Given the description of an element on the screen output the (x, y) to click on. 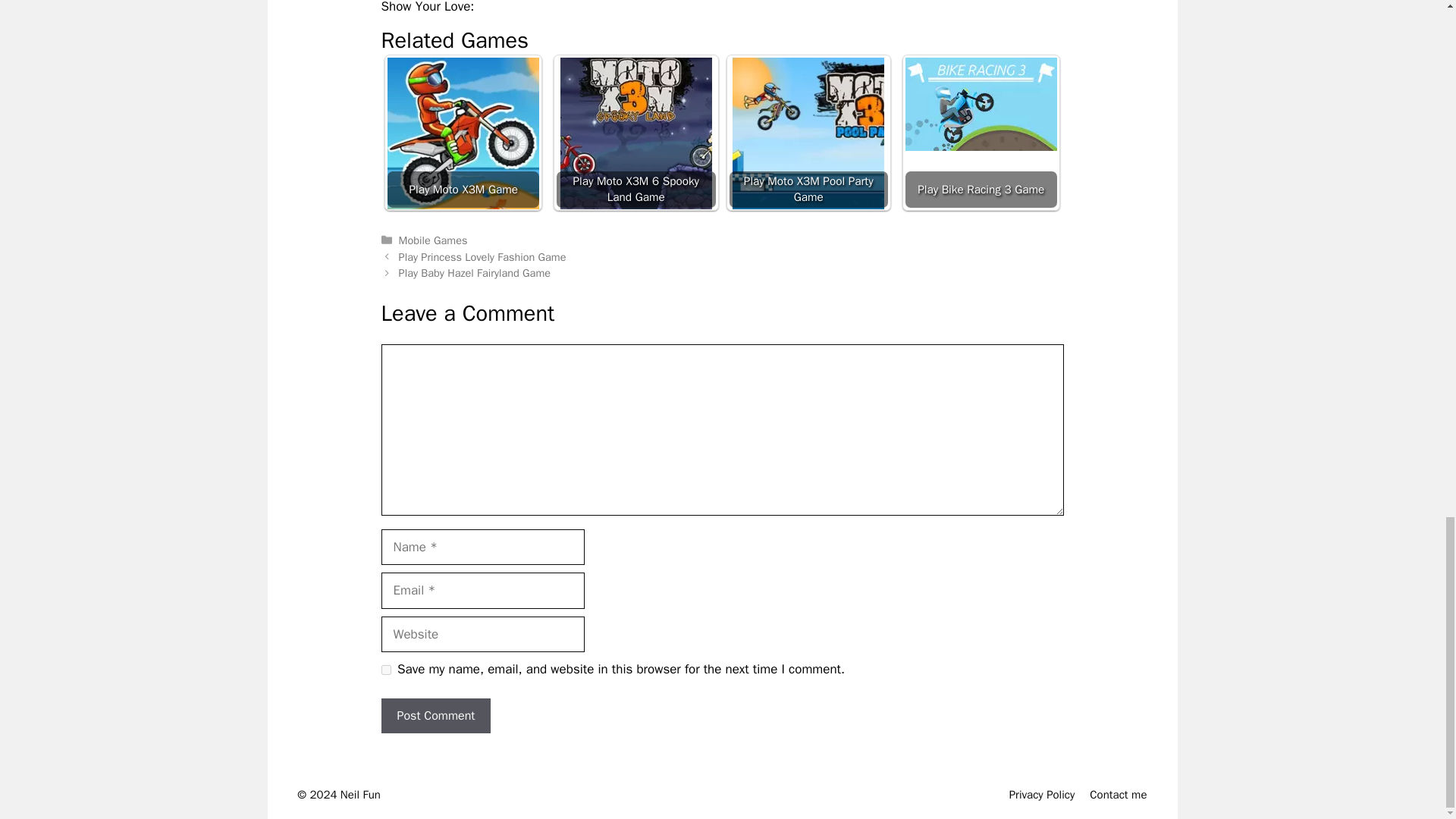
Play Bike Racing 3 Game (980, 132)
Mobile Games (432, 240)
Post Comment (435, 715)
Play Moto X3M Pool Party Game (807, 132)
Post Comment (435, 715)
Play Princess Lovely Fashion Game (482, 256)
Privacy Policy (1042, 794)
Play Moto X3M Game (463, 132)
Play Moto X3M Game (462, 133)
Play Moto X3M Pool Party Game (807, 133)
